Given the description of an element on the screen output the (x, y) to click on. 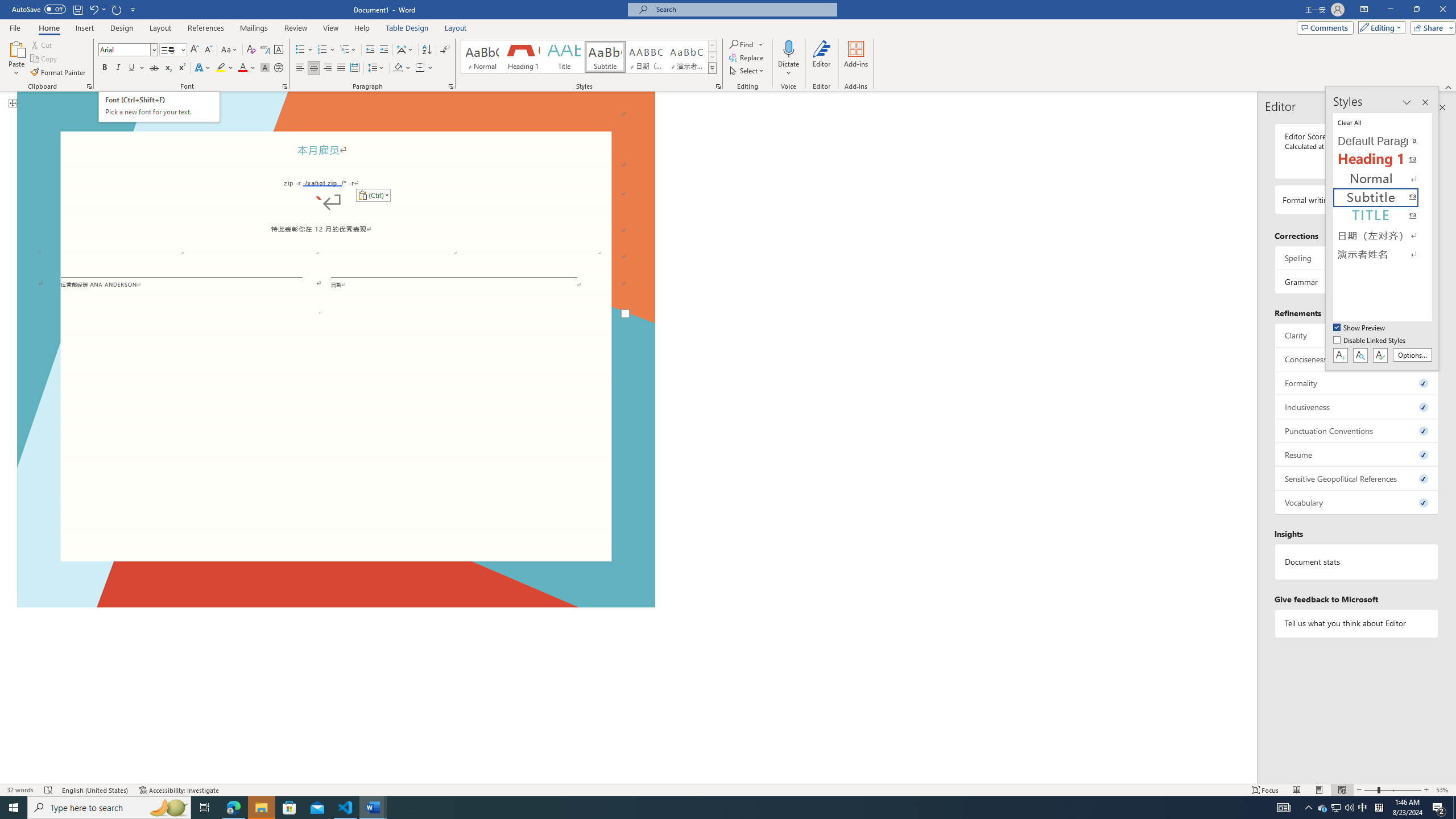
Tell us what you think about Editor (1356, 623)
